Given the description of an element on the screen output the (x, y) to click on. 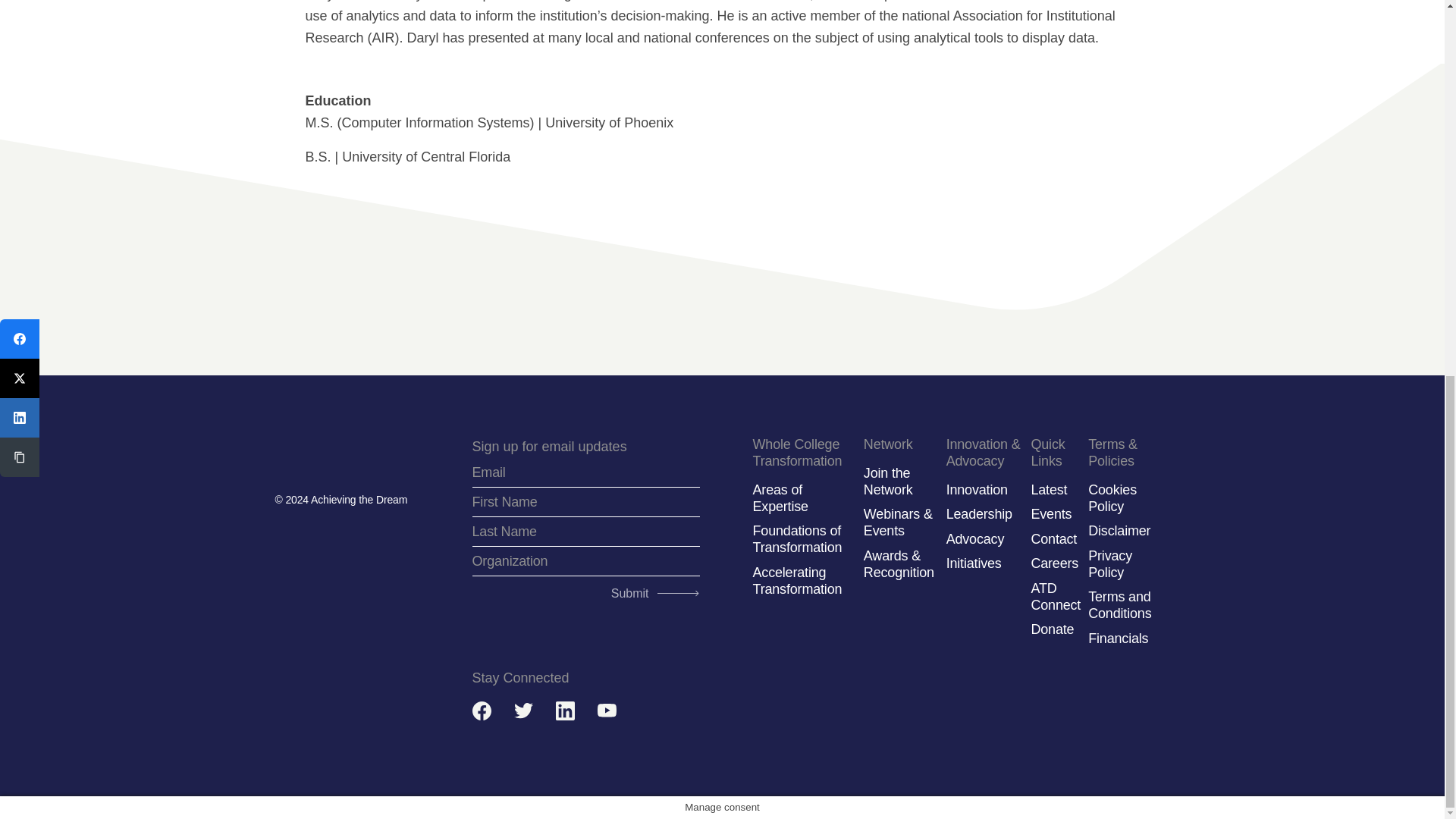
Follow us on Facebook (480, 710)
Follow us on Youtube (605, 710)
Submit (651, 590)
Follow us on Twitter (522, 710)
Follow us on Facebook (480, 710)
Follow us on LinkedIn (563, 710)
Follow us on Twitter (522, 710)
Follow us on LinkedIn (563, 710)
Follow us on Youtube (605, 710)
